Given the description of an element on the screen output the (x, y) to click on. 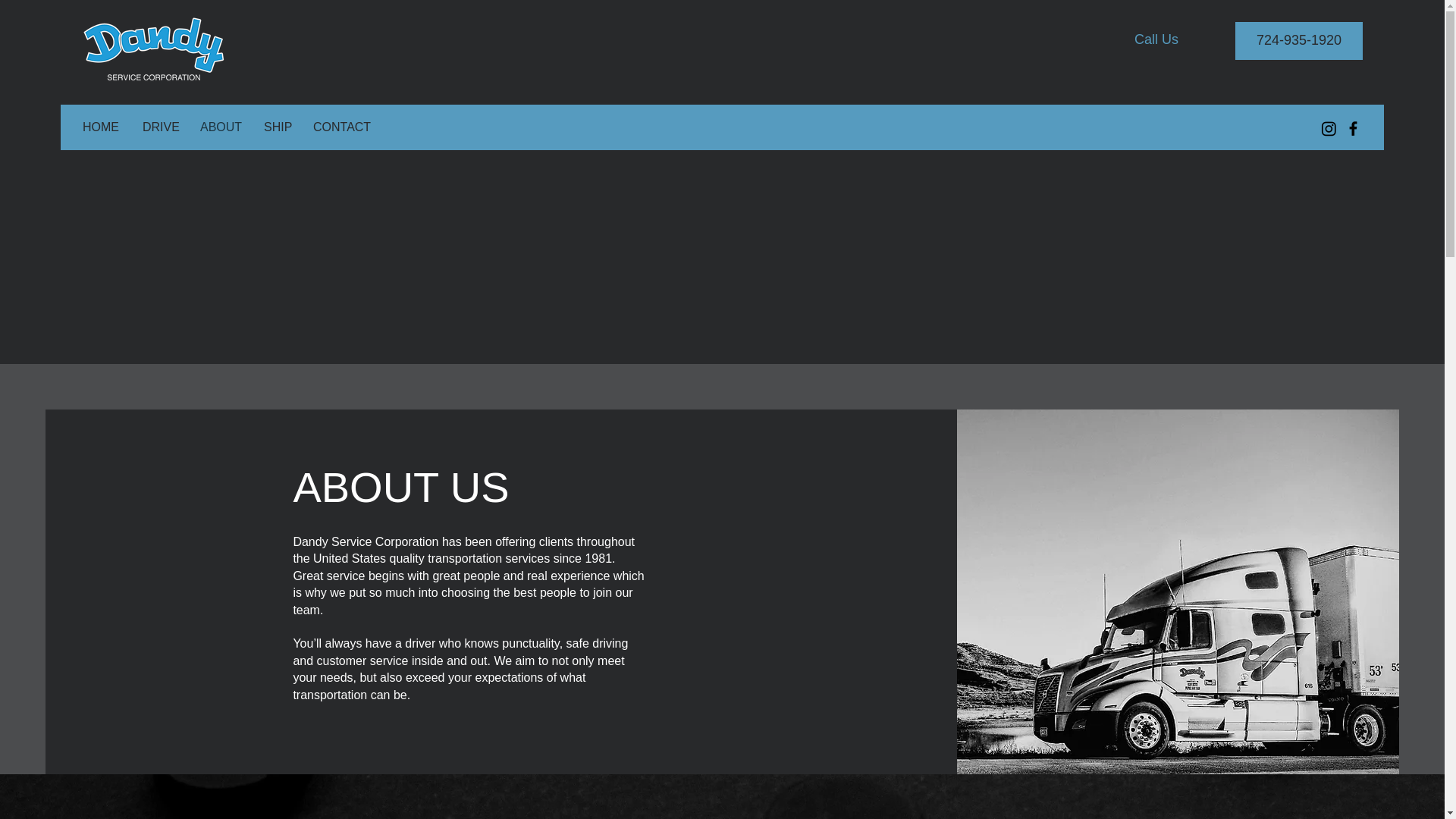
ABOUT (220, 127)
CONTACT (340, 127)
724-935-1920 (1298, 40)
DRIVE (160, 127)
HOME (101, 127)
SHIP (276, 127)
